Given the description of an element on the screen output the (x, y) to click on. 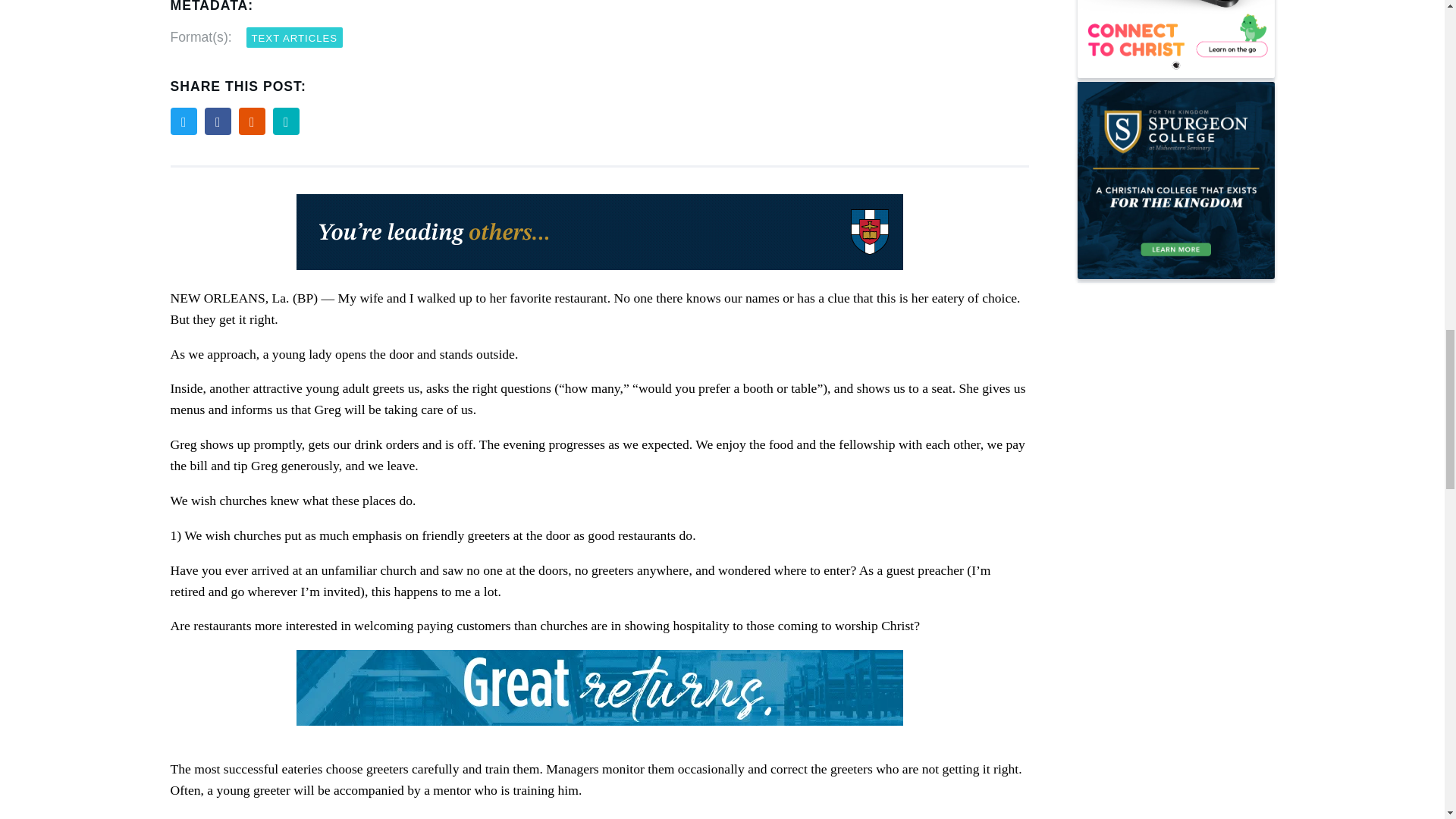
TEXT ARTICLES (294, 37)
